Given the description of an element on the screen output the (x, y) to click on. 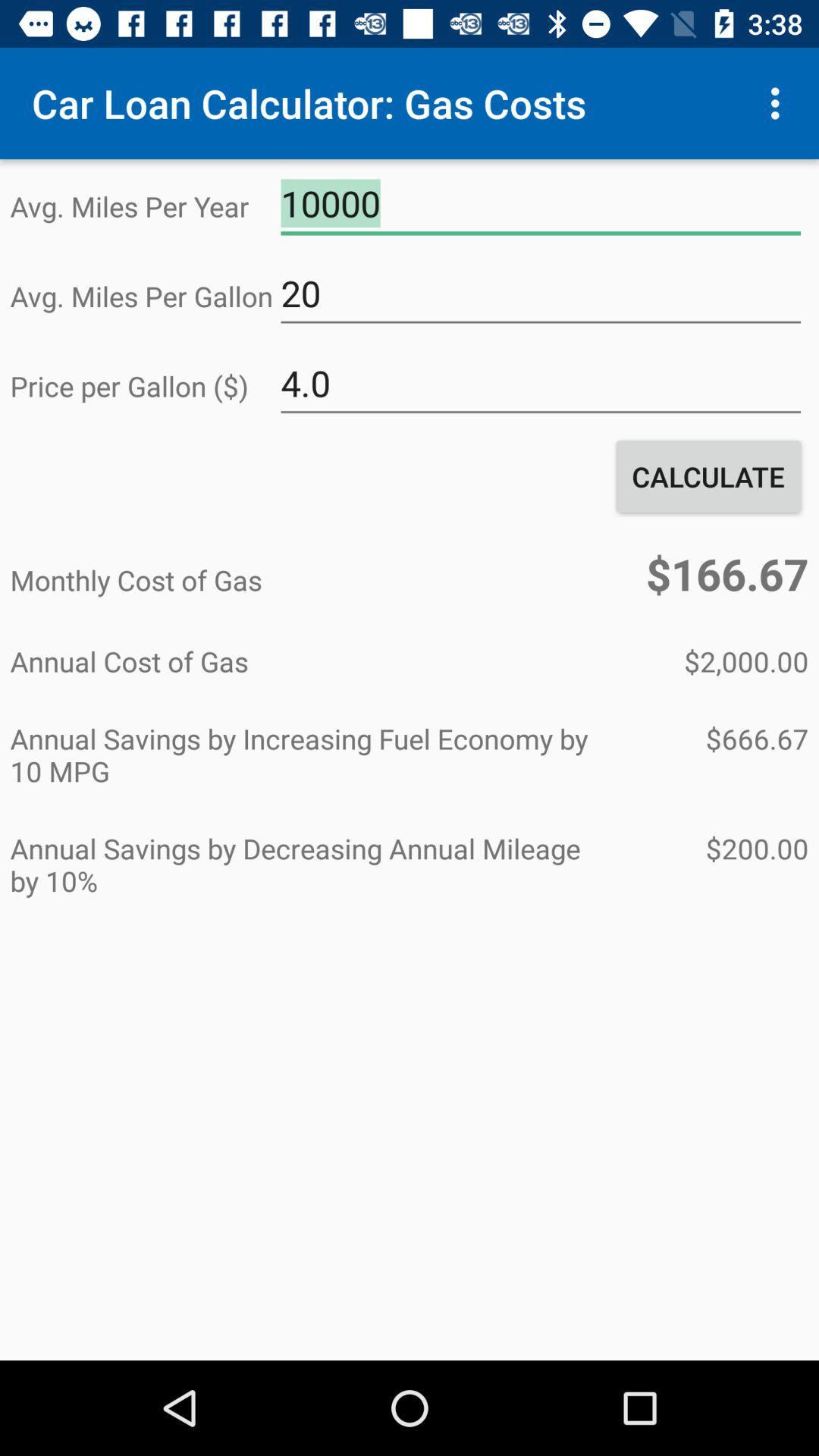
press item next to avg miles per icon (540, 204)
